Given the description of an element on the screen output the (x, y) to click on. 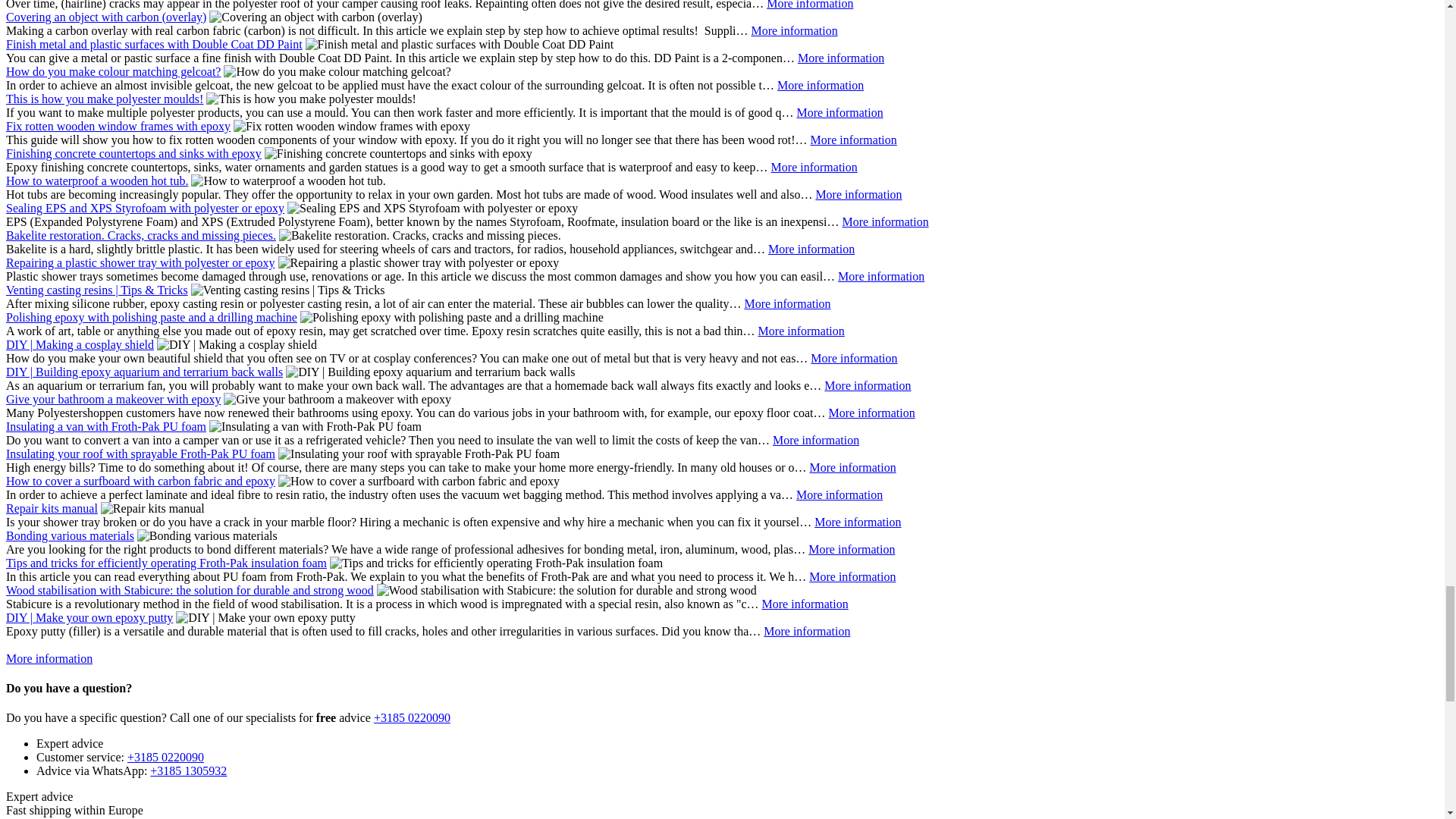
Finish metal and plastic surfaces with Double Coat DD Paint (840, 57)
Repairing a plastic shower tray with polyester or epoxy (881, 276)
How to waterproof a wooden hot tub. (858, 194)
Fix rotten wooden window frames with epoxy (853, 139)
Polishing epoxy with polishing paste and a drilling machine (801, 330)
Finishing concrete countertops and sinks with epoxy (814, 166)
This is how you repair a polyester camper roof! (810, 4)
This is how you make polyester moulds! (839, 112)
Sealing EPS and XPS Styrofoam with polyester or epoxy (884, 221)
Bakelite restoration. Cracks, cracks and missing pieces. (811, 248)
How do you make colour matching gelcoat? (820, 84)
